Given the description of an element on the screen output the (x, y) to click on. 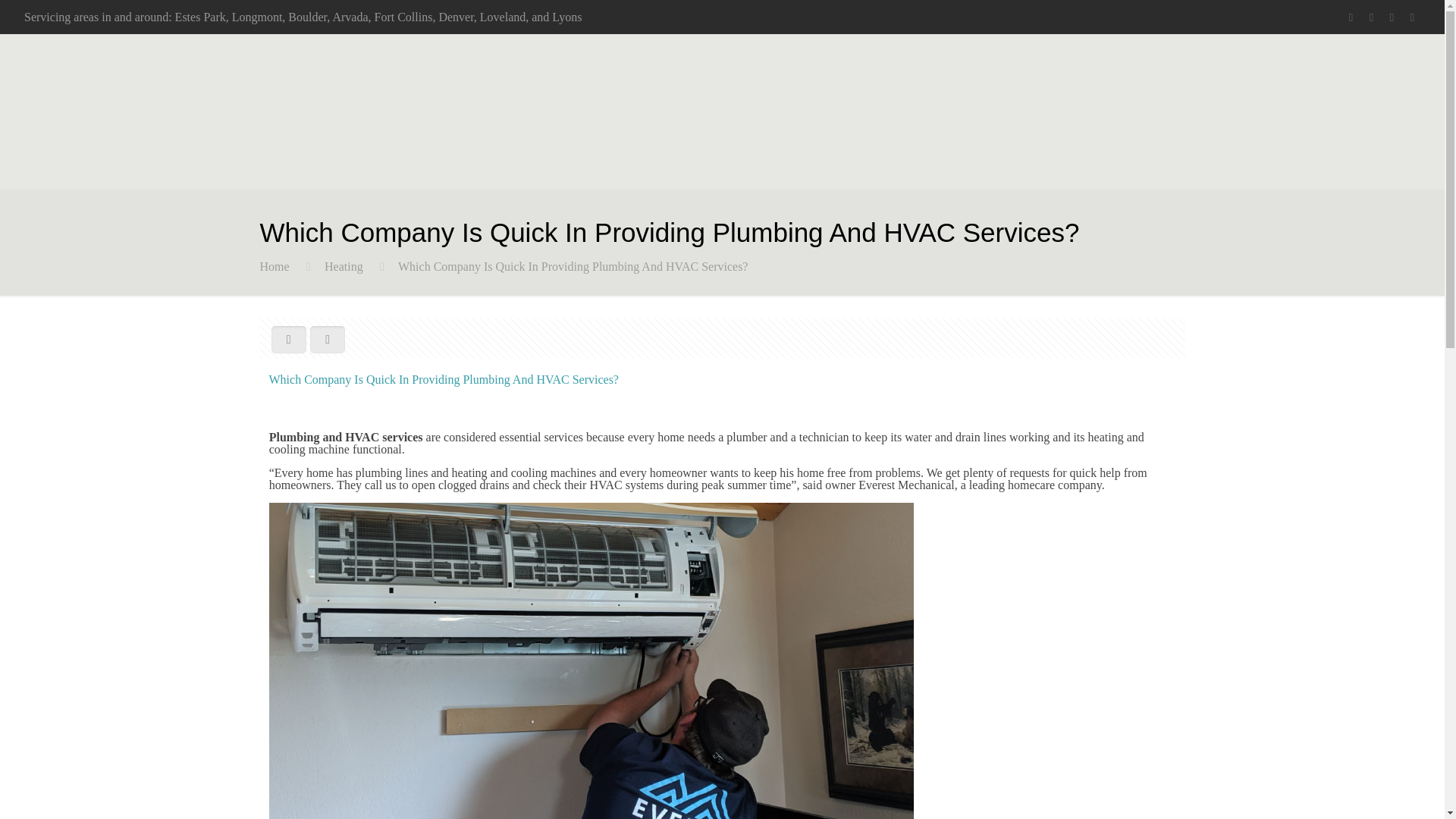
Twitter (1370, 17)
LinkedIn (1391, 17)
Facebook (1350, 17)
Instagram (1413, 17)
